Given the description of an element on the screen output the (x, y) to click on. 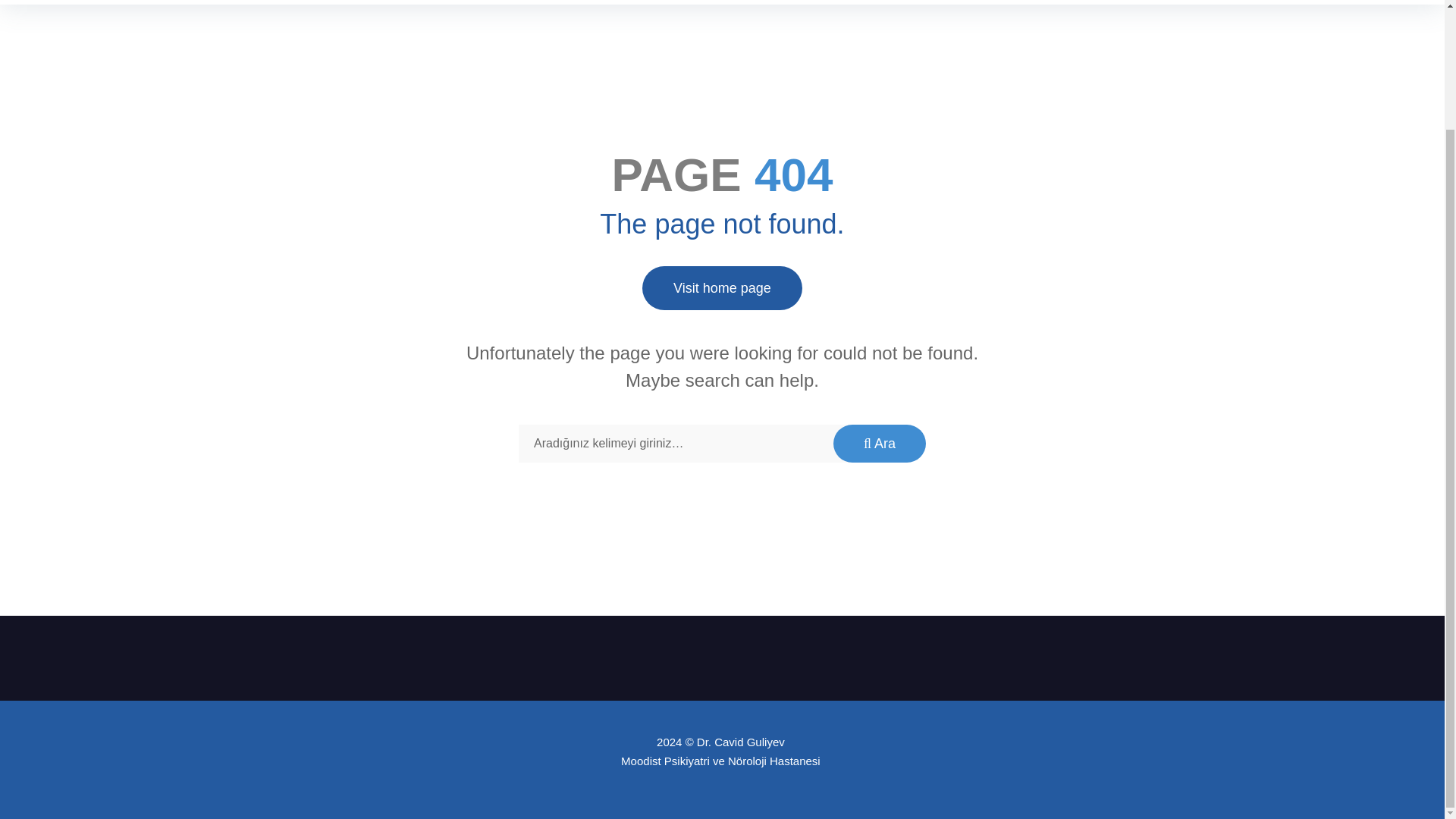
Ara (879, 443)
Visit home page (722, 288)
